Given the description of an element on the screen output the (x, y) to click on. 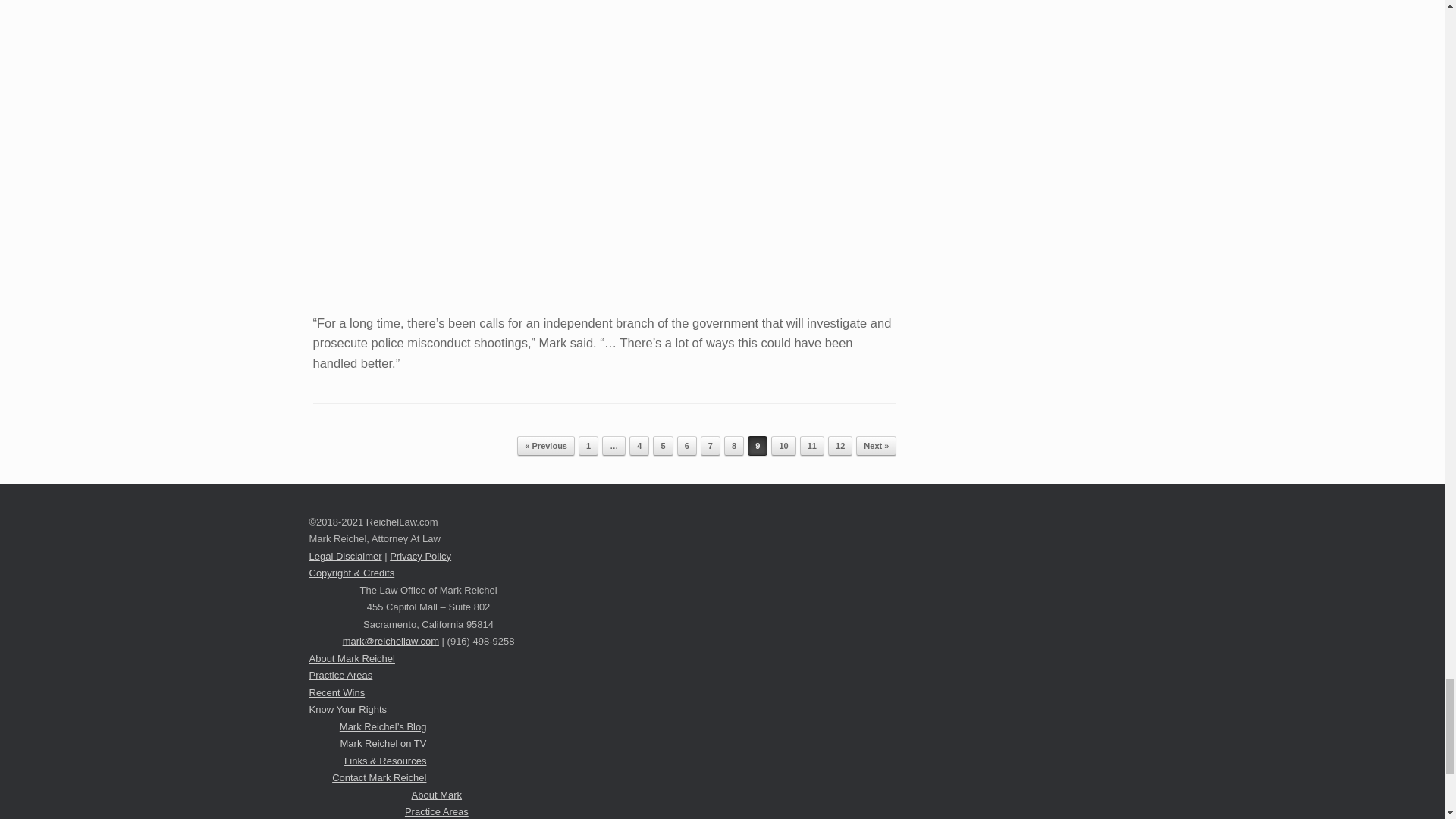
1 (588, 445)
